Given the description of an element on the screen output the (x, y) to click on. 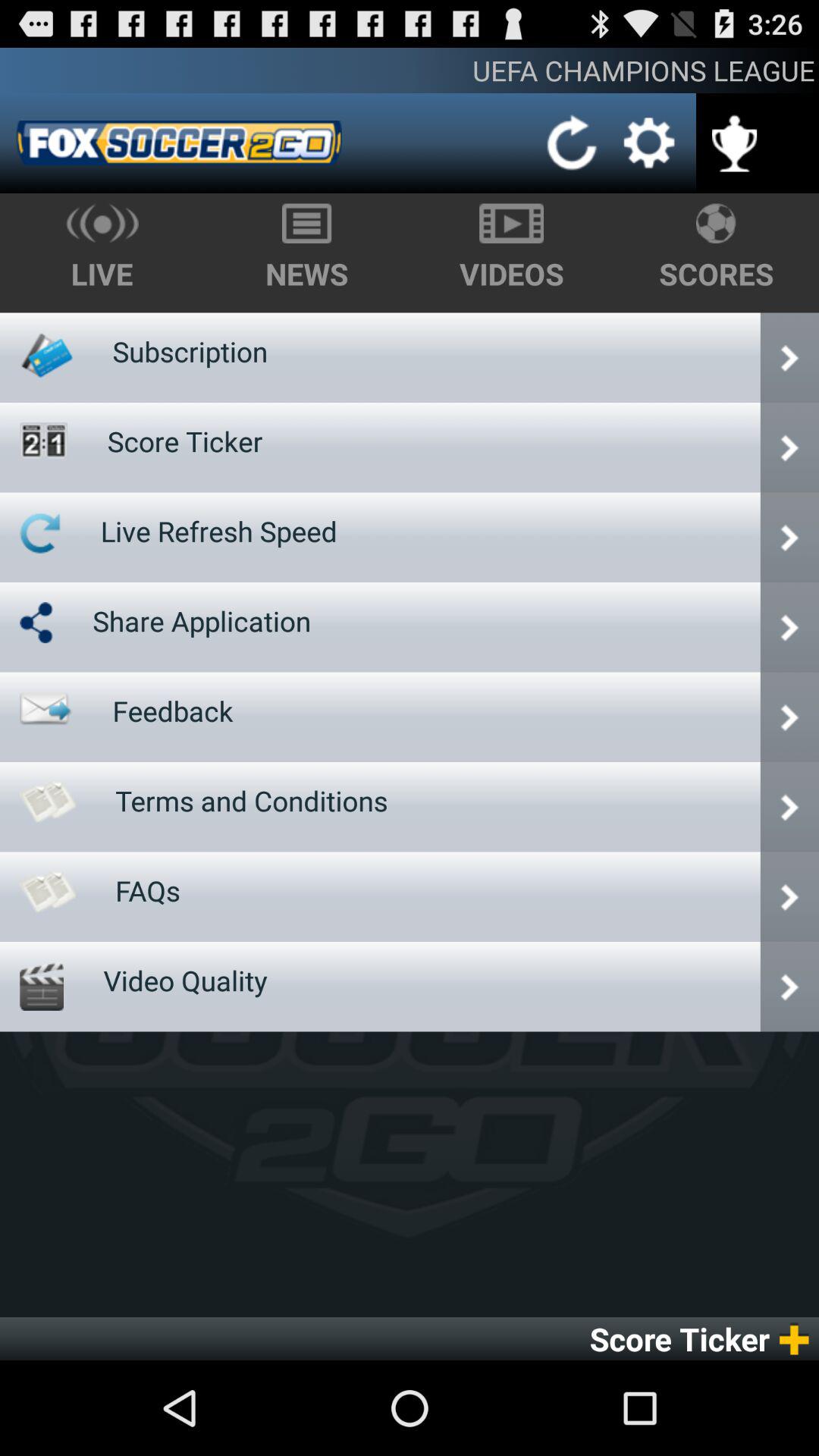
swipe until the faqs item (147, 890)
